Given the description of an element on the screen output the (x, y) to click on. 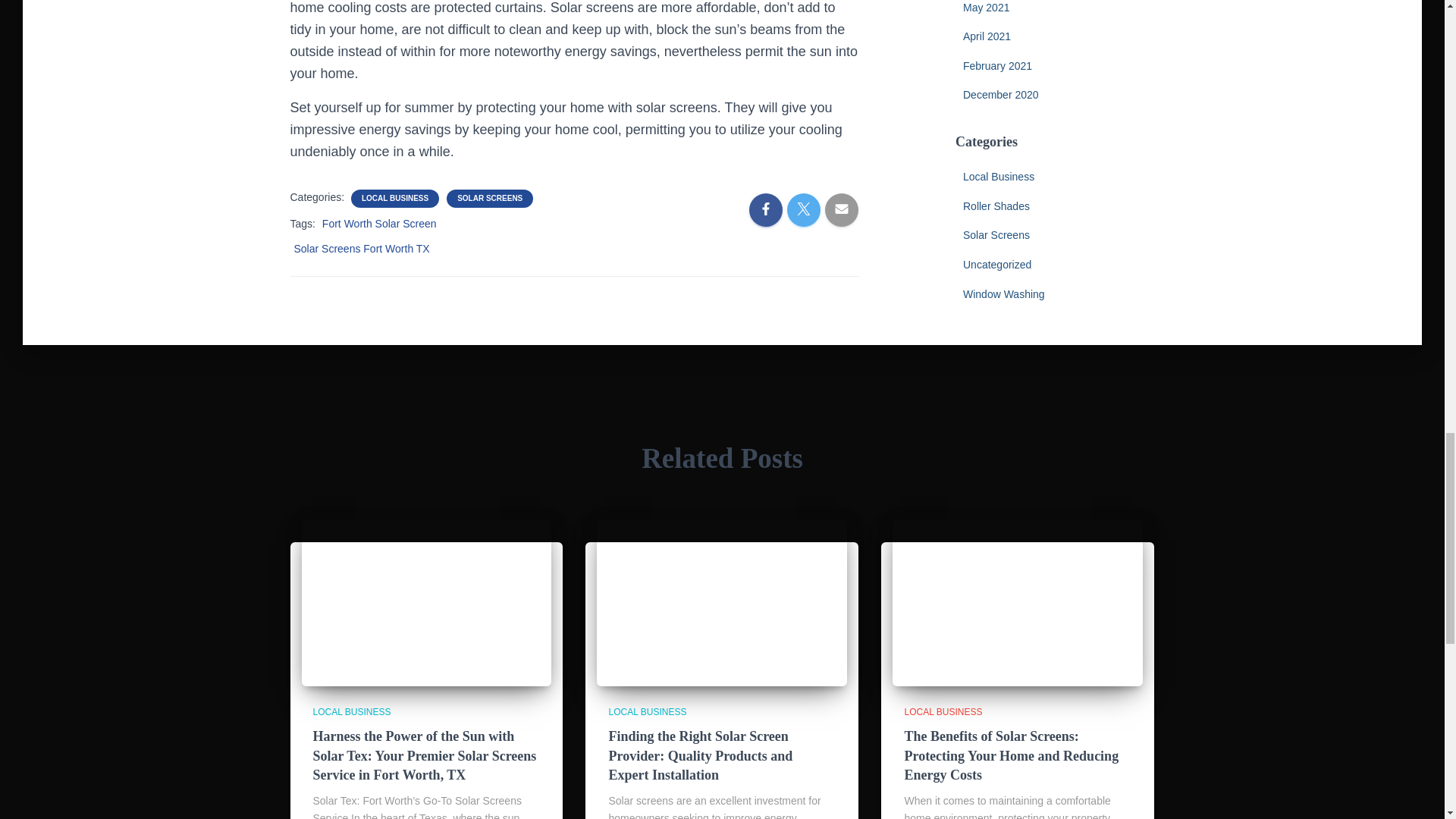
LOCAL BUSINESS (394, 198)
View all posts in Local Business (646, 711)
Solar Screens Fort Worth TX (361, 248)
View all posts in Local Business (351, 711)
Fort Worth Solar Screen (378, 223)
SOLAR SCREENS (489, 198)
